Given the description of an element on the screen output the (x, y) to click on. 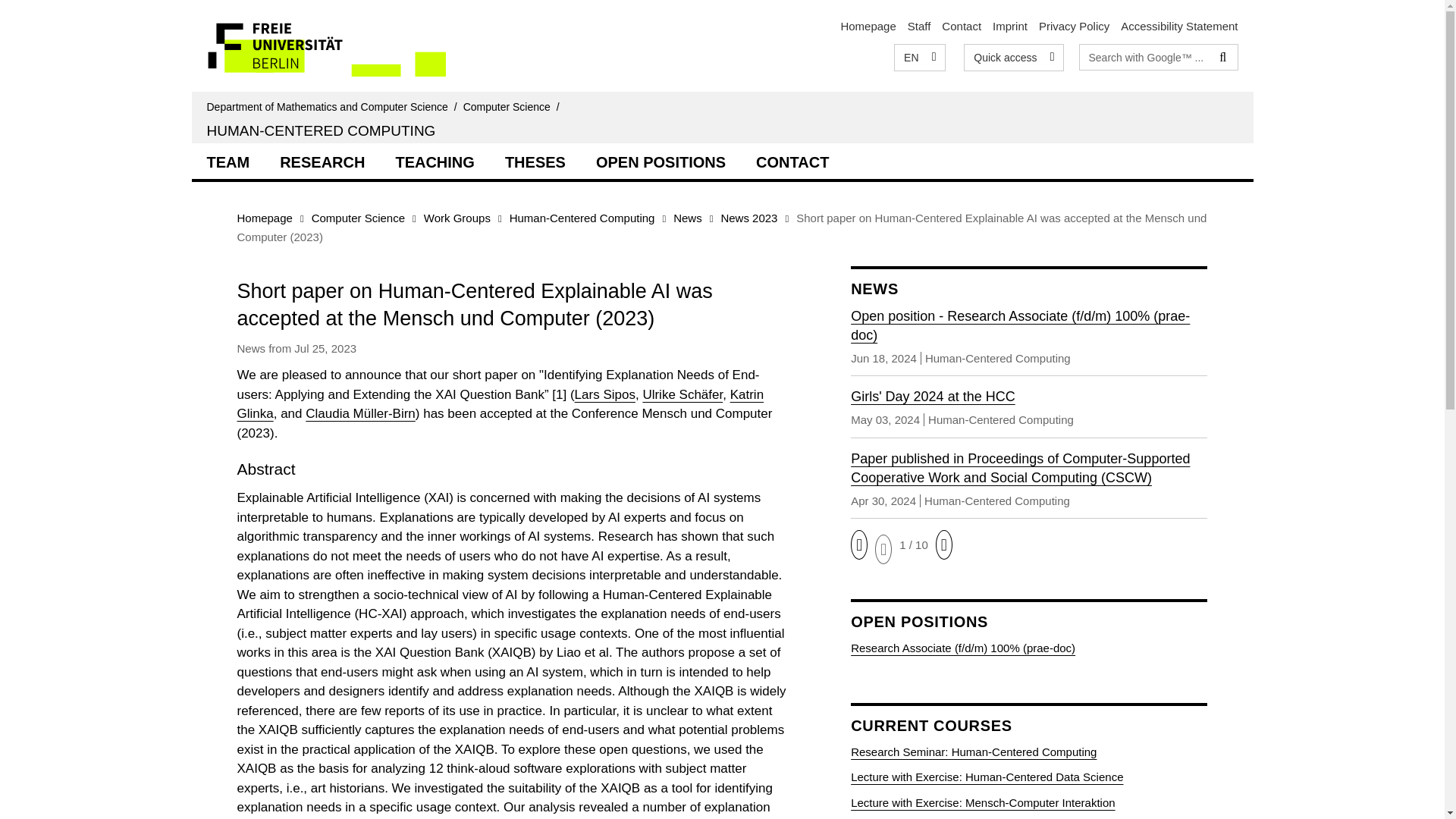
Staff (919, 25)
Homepage (867, 25)
Imprint (1009, 25)
Accessibility Statement (1179, 25)
Privacy Policy (1074, 25)
Contact (961, 25)
